Given the description of an element on the screen output the (x, y) to click on. 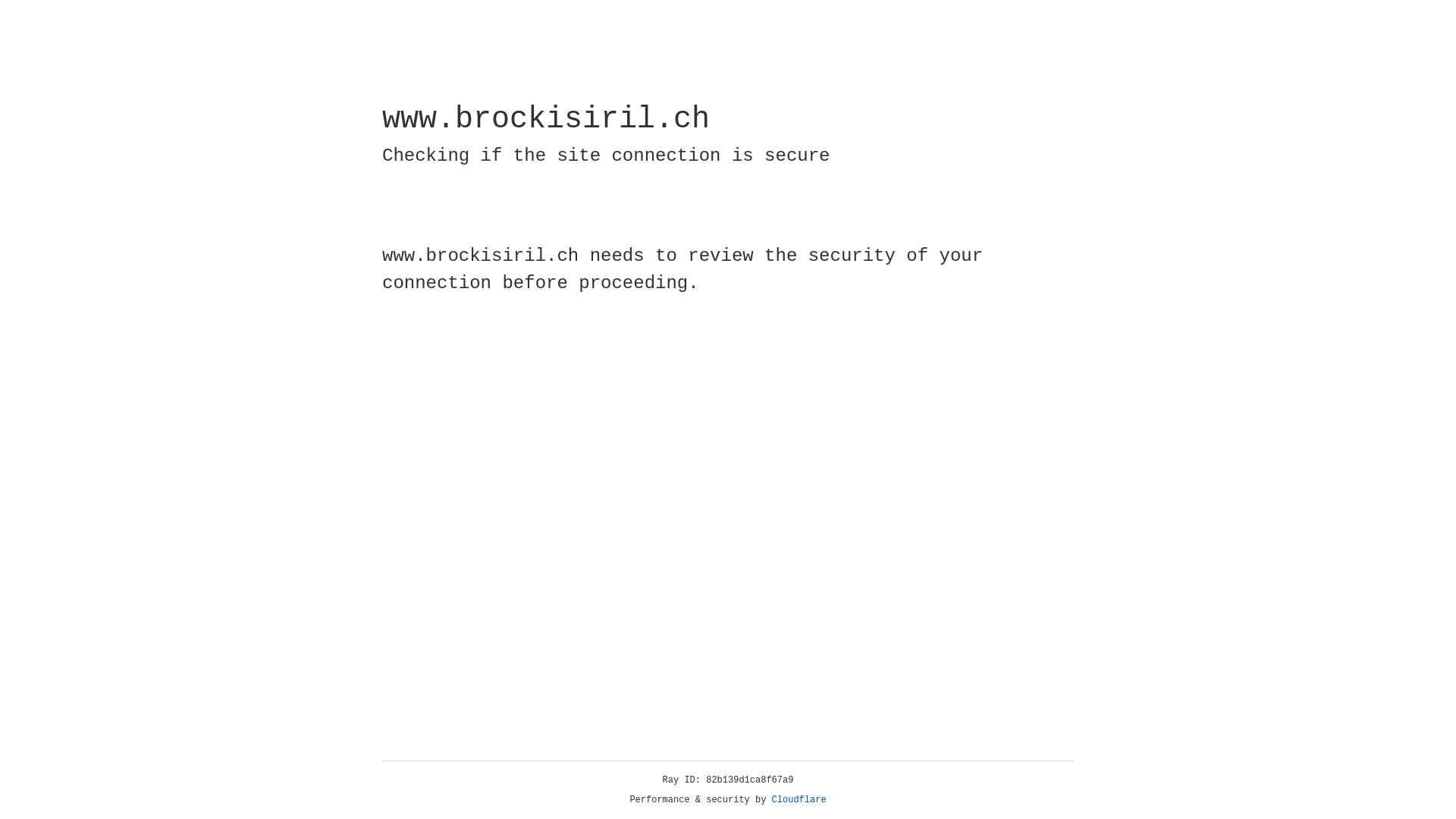
Cloudflare Element type: text (798, 799)
